Given the description of an element on the screen output the (x, y) to click on. 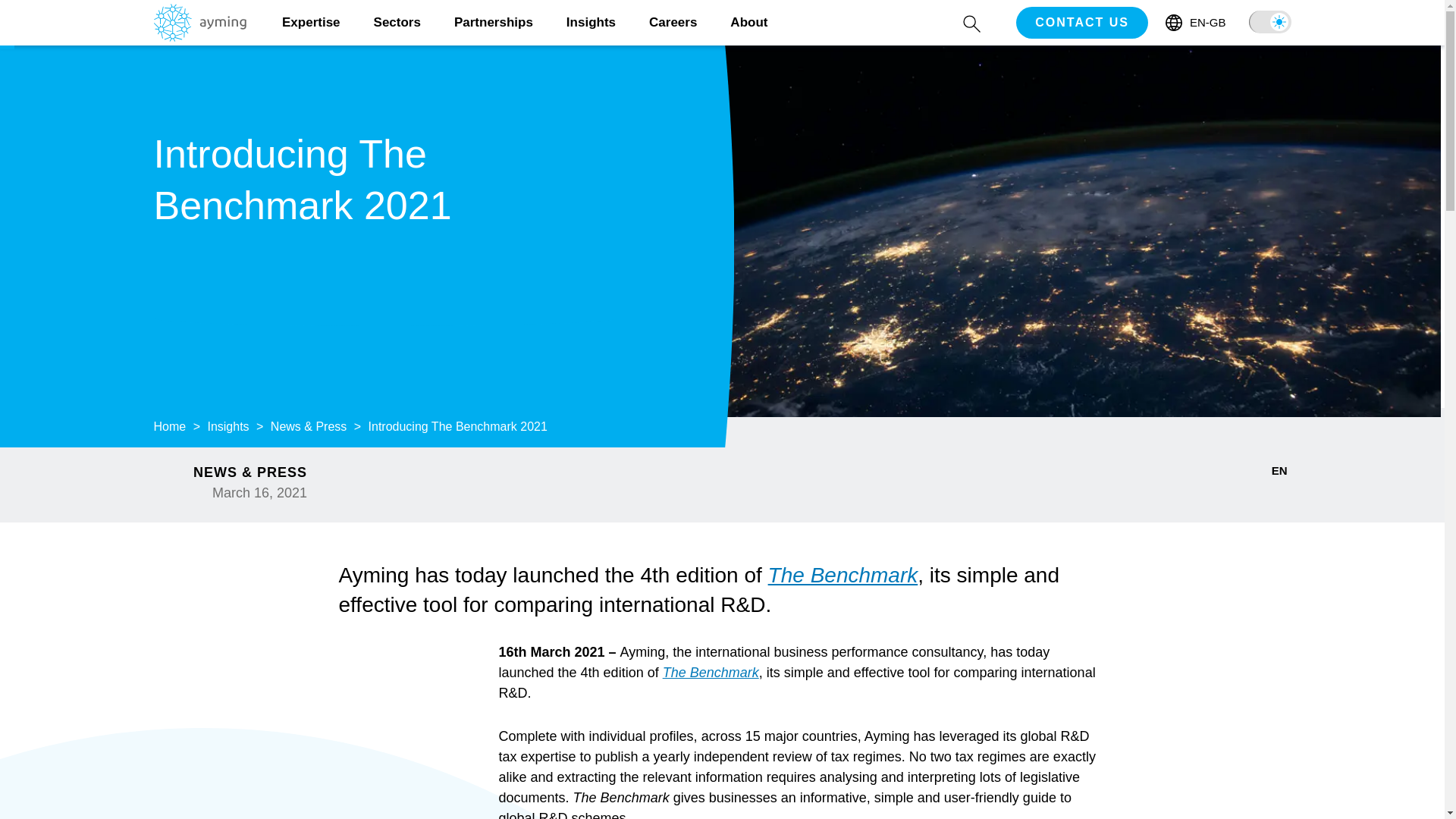
Sectors (397, 22)
Go to Insights. (227, 426)
Go to Home. (169, 426)
Ayming UK (199, 36)
Expertise (311, 22)
Partnerships (493, 22)
